Given the description of an element on the screen output the (x, y) to click on. 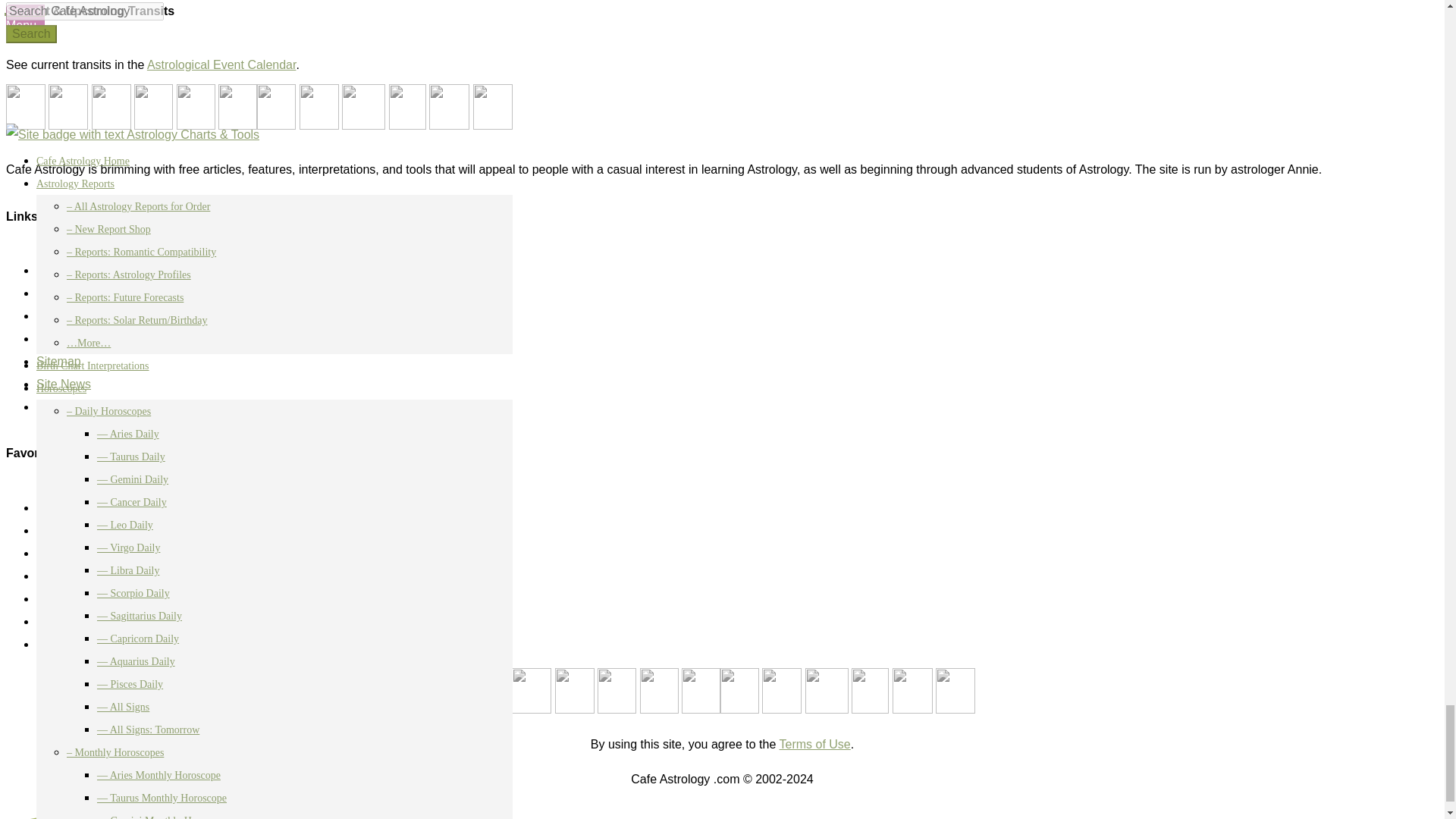
Sagittarius (826, 690)
Daily Horoscopes (83, 553)
